Given the description of an element on the screen output the (x, y) to click on. 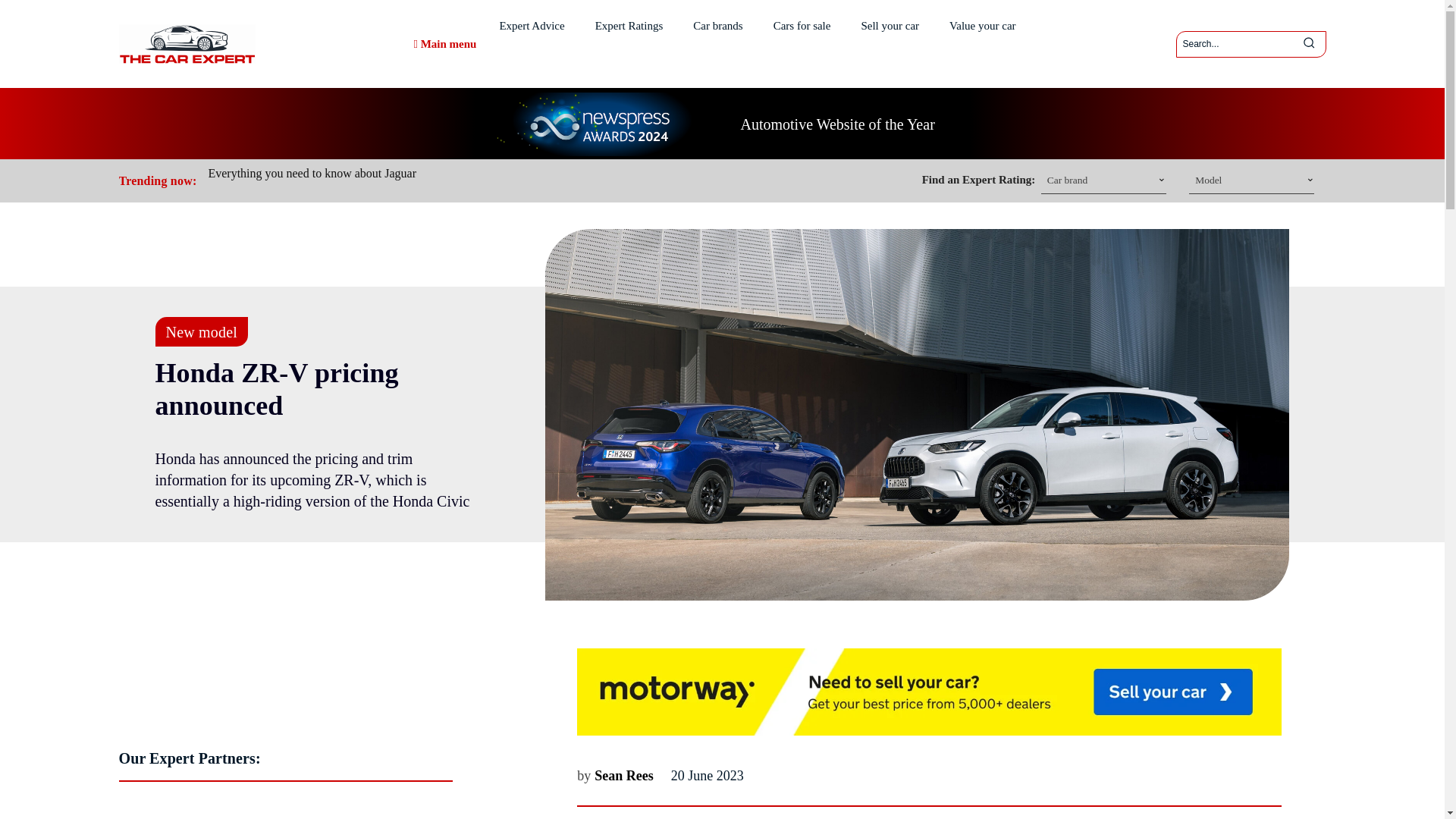
newspress-wide (598, 124)
